Given the description of an element on the screen output the (x, y) to click on. 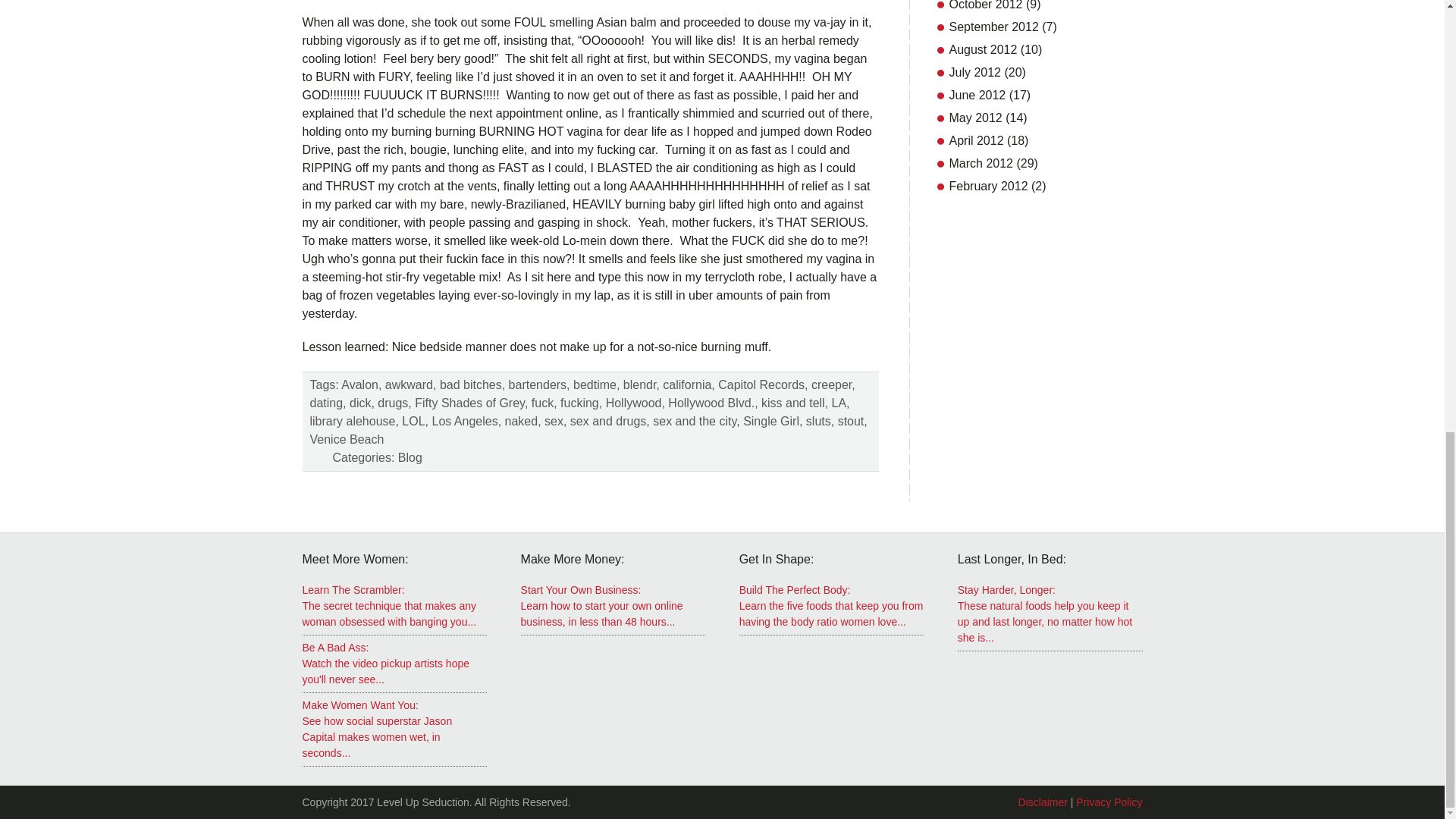
Avalon (359, 384)
awkward (408, 384)
Capitol Records (761, 384)
bartenders (537, 384)
Hollywood (633, 402)
blendr (639, 384)
dating (325, 402)
kiss and tell (793, 402)
sex and the city (694, 420)
LOL (413, 420)
